Given the description of an element on the screen output the (x, y) to click on. 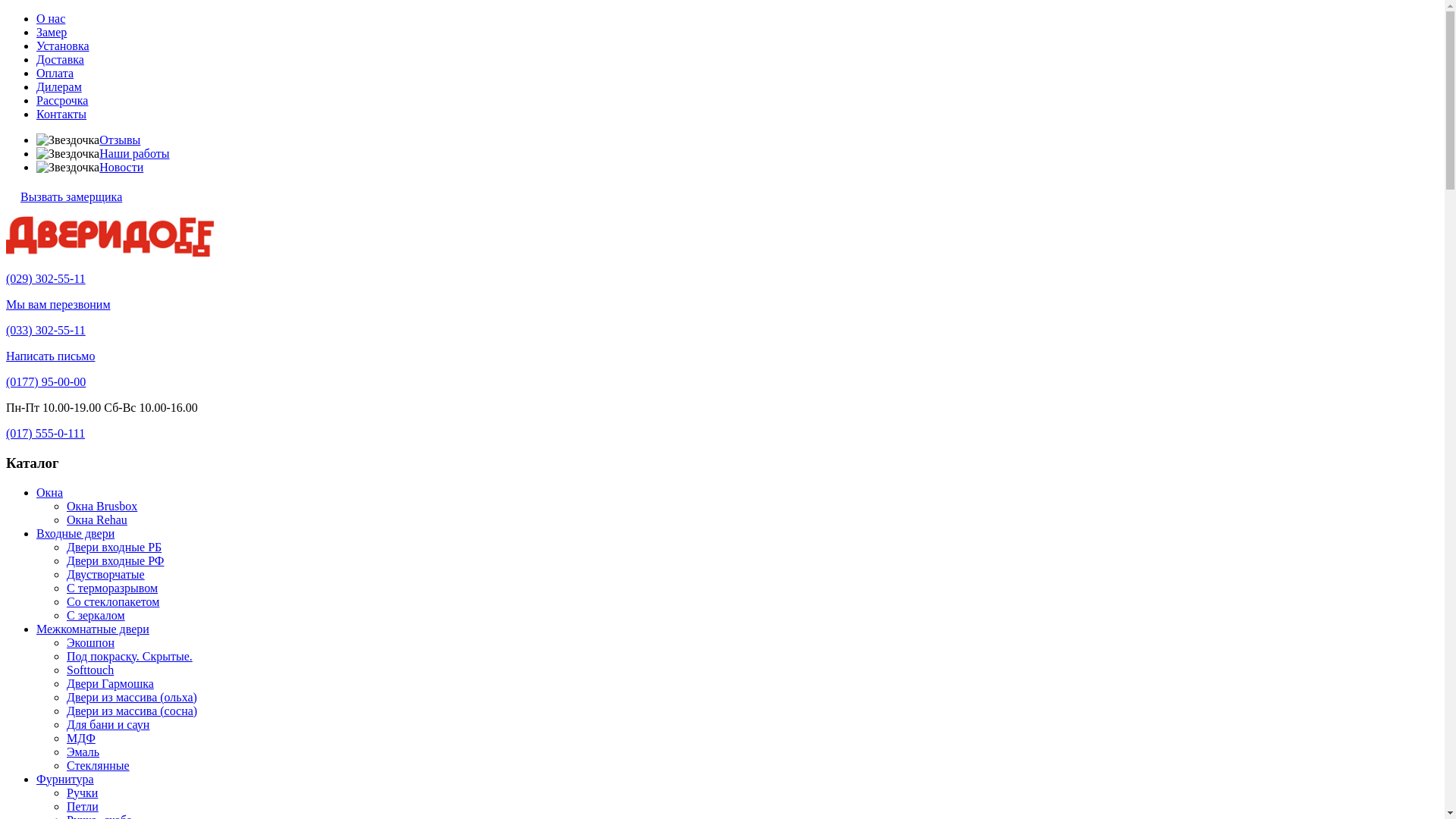
(033) 302-55-11 Element type: text (45, 329)
(029) 302-55-11 Element type: text (45, 278)
(0177) 95-00-00 Element type: text (45, 381)
(017) 555-0-111 Element type: text (45, 432)
Softtouch Element type: text (89, 669)
